Given the description of an element on the screen output the (x, y) to click on. 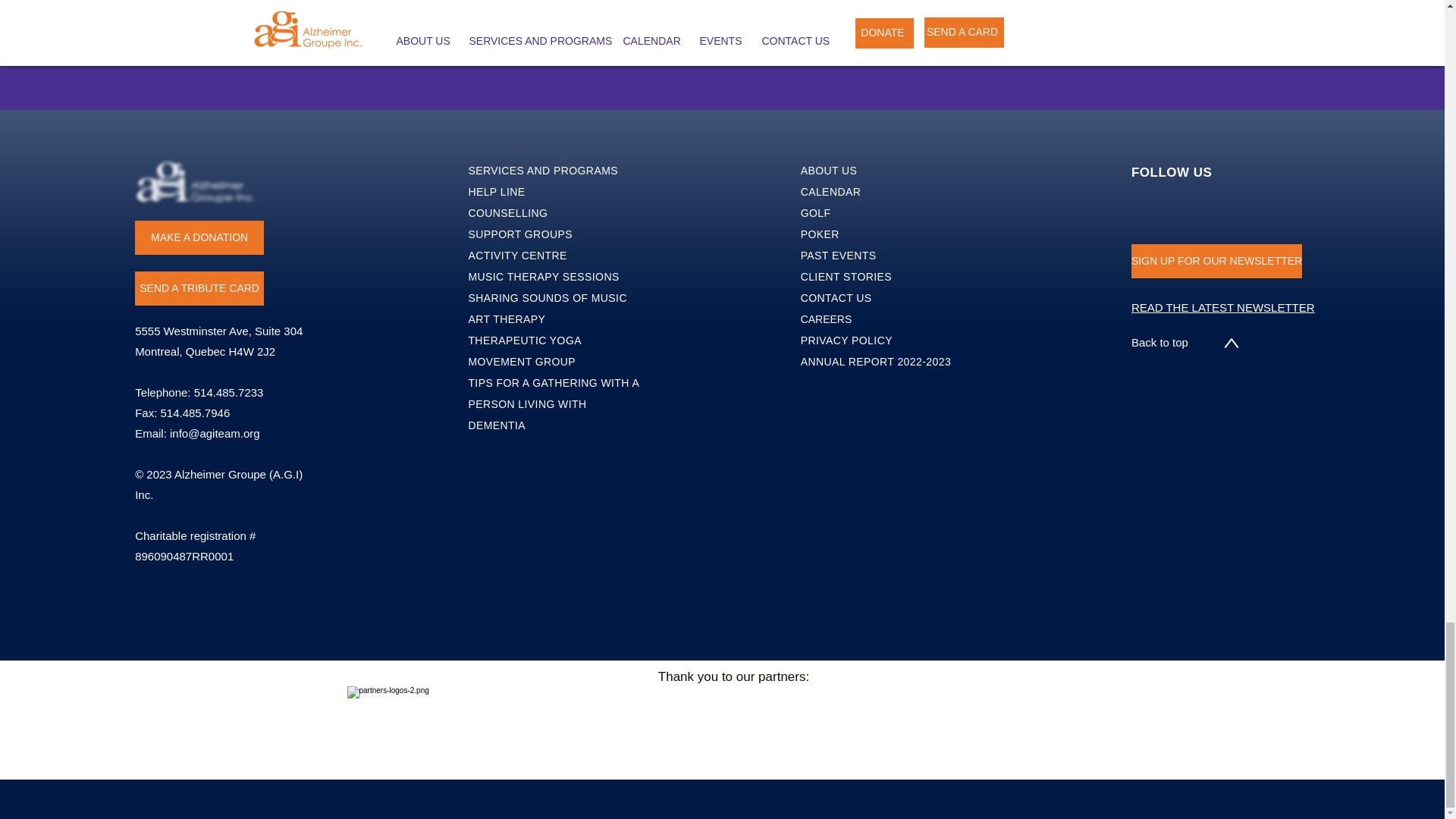
514.485.7233 (228, 391)
MUSIC THERAPY SESSIONS (542, 276)
COUNSELLING (507, 213)
SEND A TRIBUTE CARD (199, 288)
ACTIVITY CENTRE (517, 255)
CAREERS (825, 318)
SUPPORT GROUPS (519, 234)
CALENDAR (830, 191)
PAST EVENTS (838, 255)
THERAPEUTIC YOGA (523, 340)
